Given the description of an element on the screen output the (x, y) to click on. 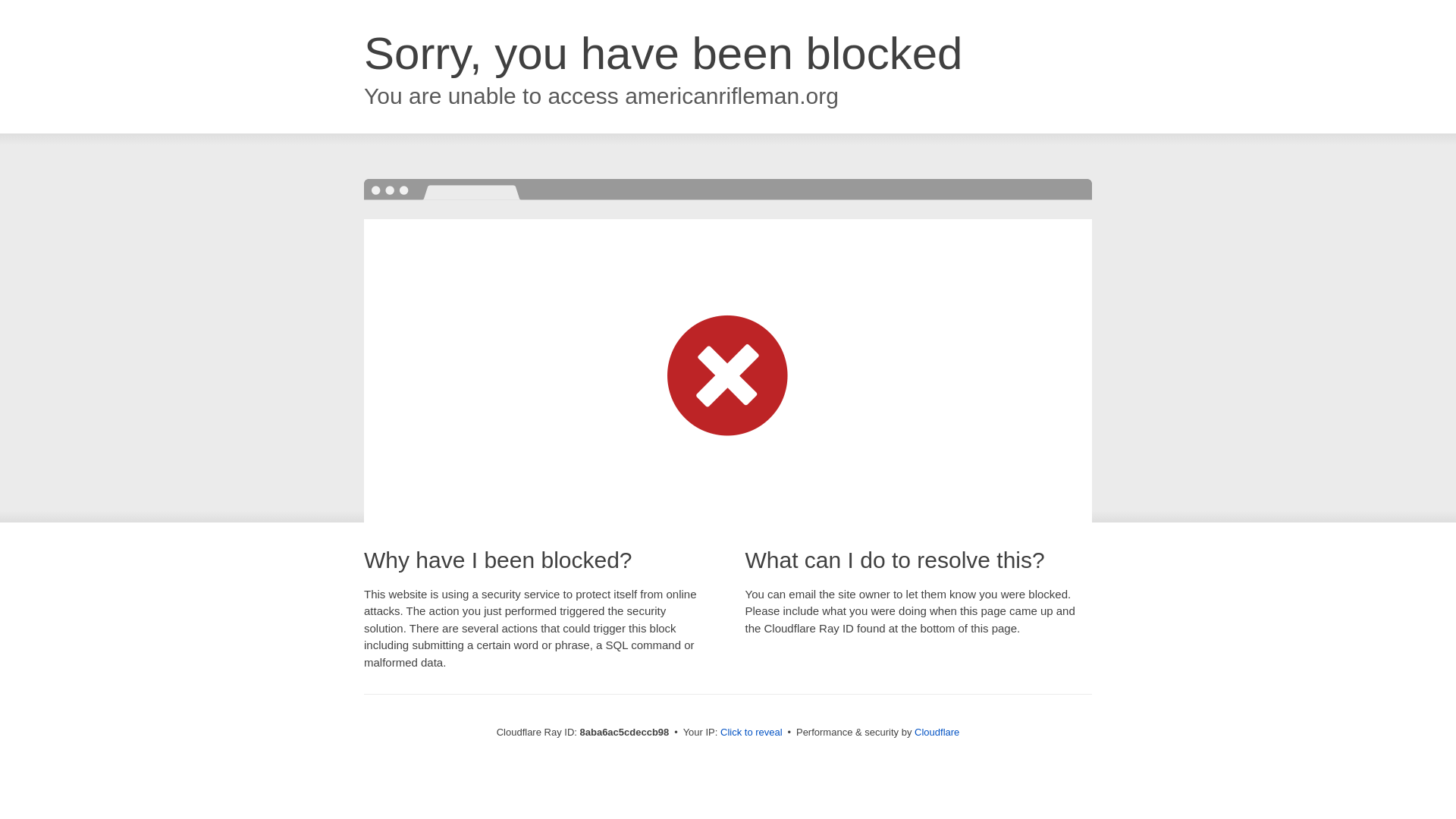
Click to reveal (751, 732)
Cloudflare (936, 731)
